Given the description of an element on the screen output the (x, y) to click on. 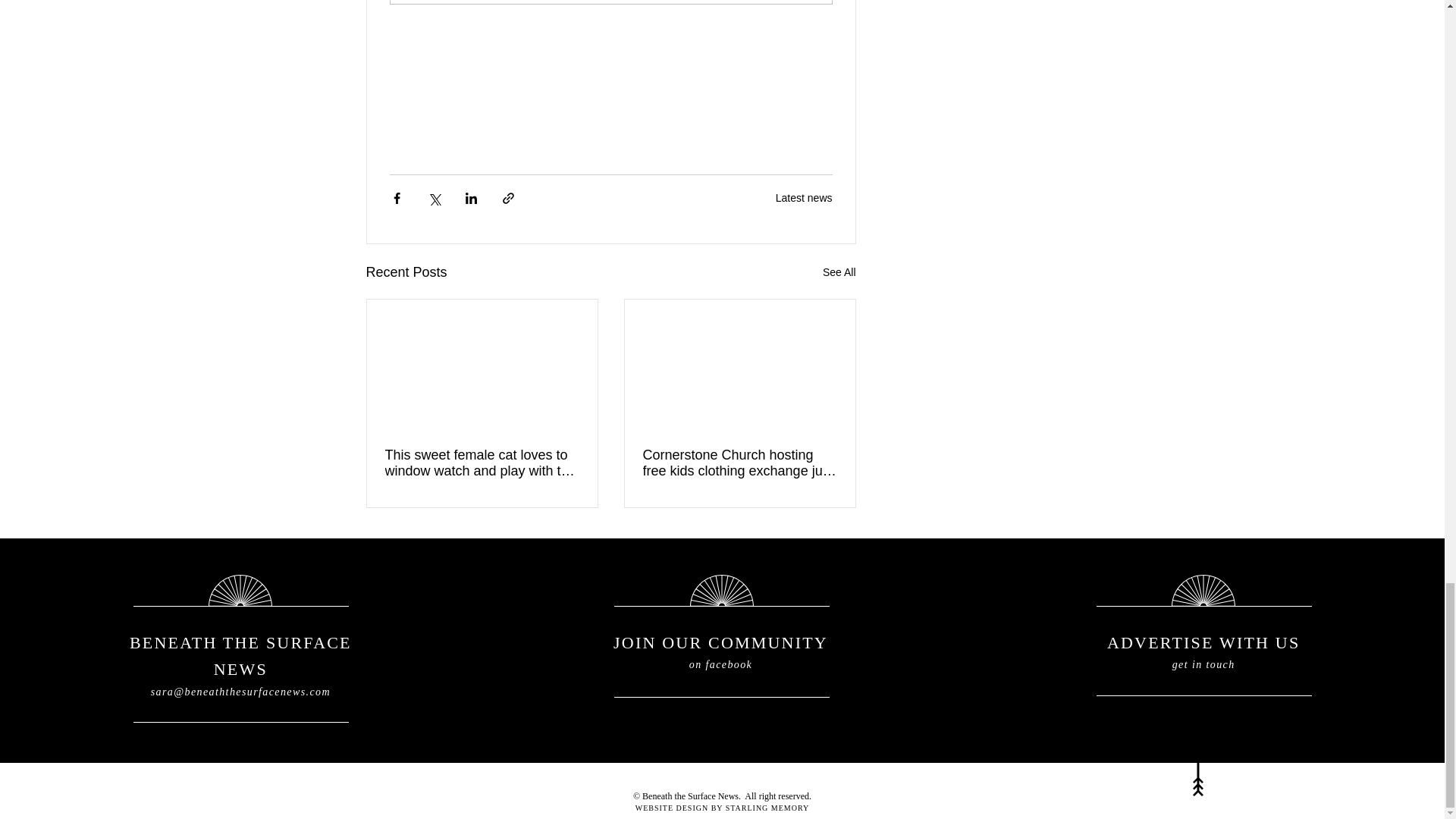
WEBSITE DESIGN BY STARLING MEMORY (721, 807)
get in touch (1203, 664)
See All (839, 272)
on facebook (720, 664)
Latest news (804, 197)
